Given the description of an element on the screen output the (x, y) to click on. 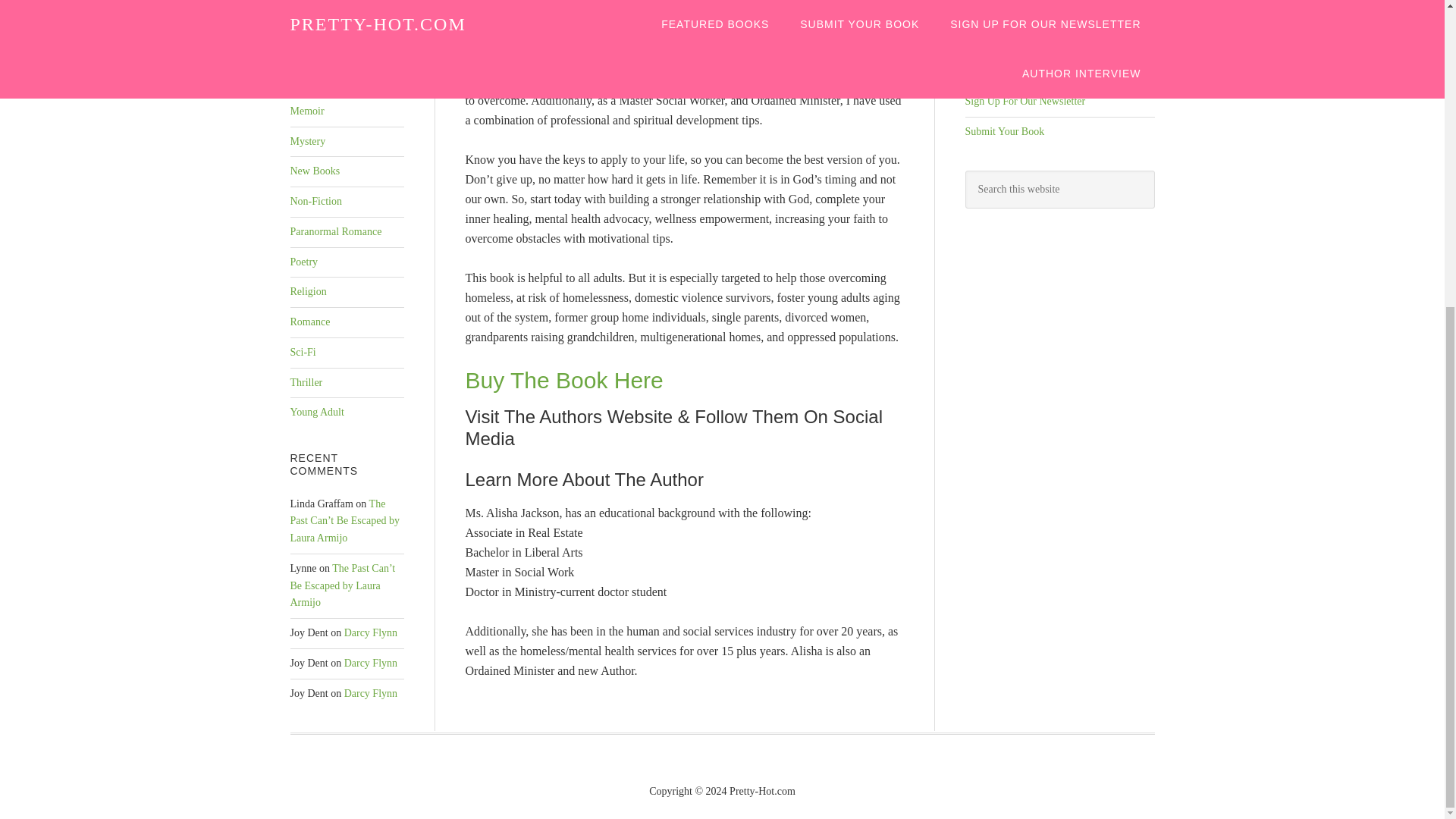
Sign Up For Our Newsletter (1023, 101)
How To (306, 20)
Privacy Policy (994, 40)
Non-Fiction (314, 201)
Paranormal Romance (335, 231)
Submit Your Book (1003, 131)
Discover New Authors To Read (1031, 10)
Poetry (303, 261)
Memoir (306, 111)
Promote Your Book (1006, 70)
LGBT (303, 80)
Mystery (306, 141)
Humor (304, 50)
